Given the description of an element on the screen output the (x, y) to click on. 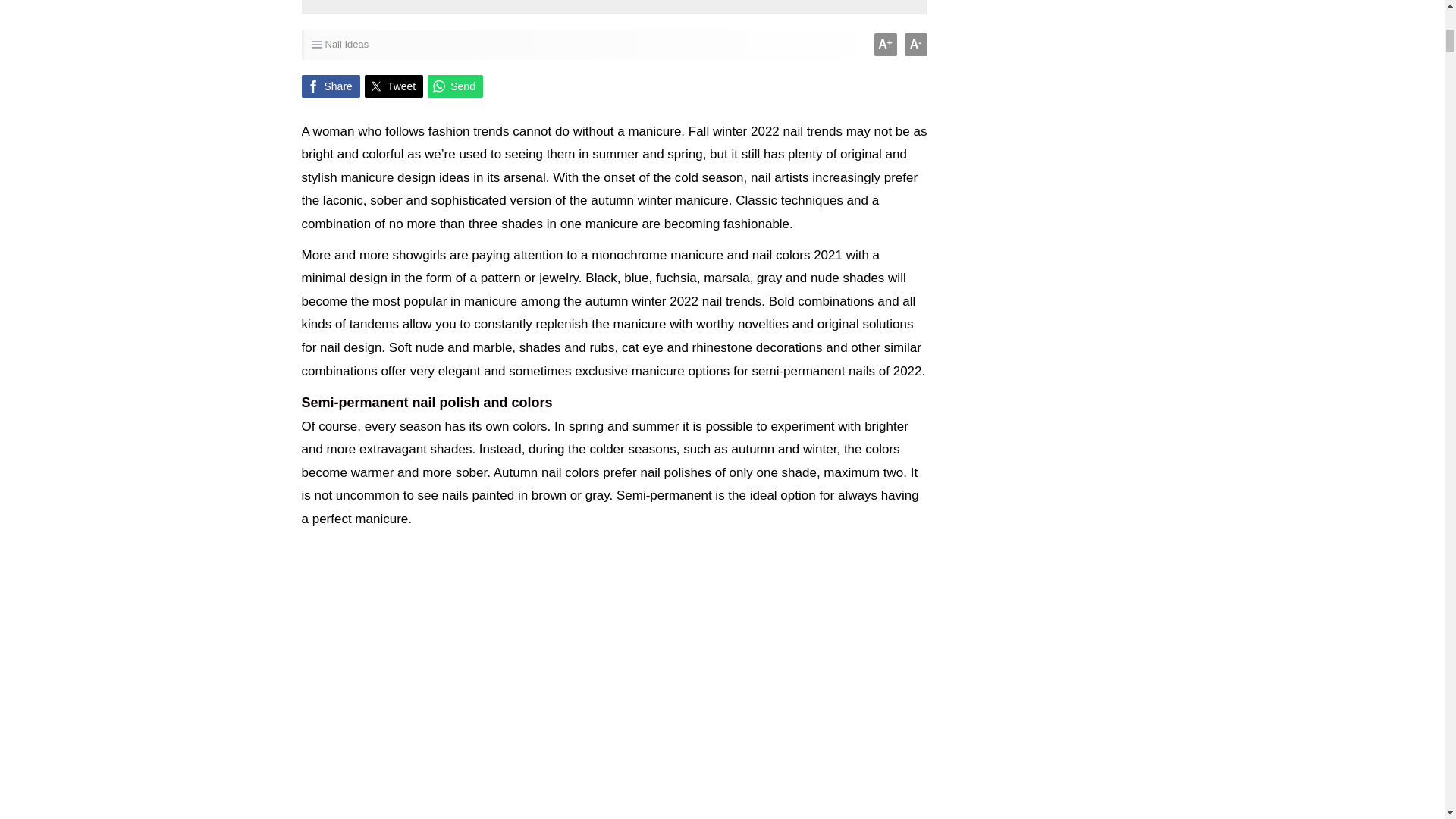
Share on Twitter (394, 86)
Nail Ideas (346, 43)
Share on Facebook (330, 86)
Send (455, 86)
Share on Whatsapp (455, 86)
Tweet (394, 86)
Share (330, 86)
